Given the description of an element on the screen output the (x, y) to click on. 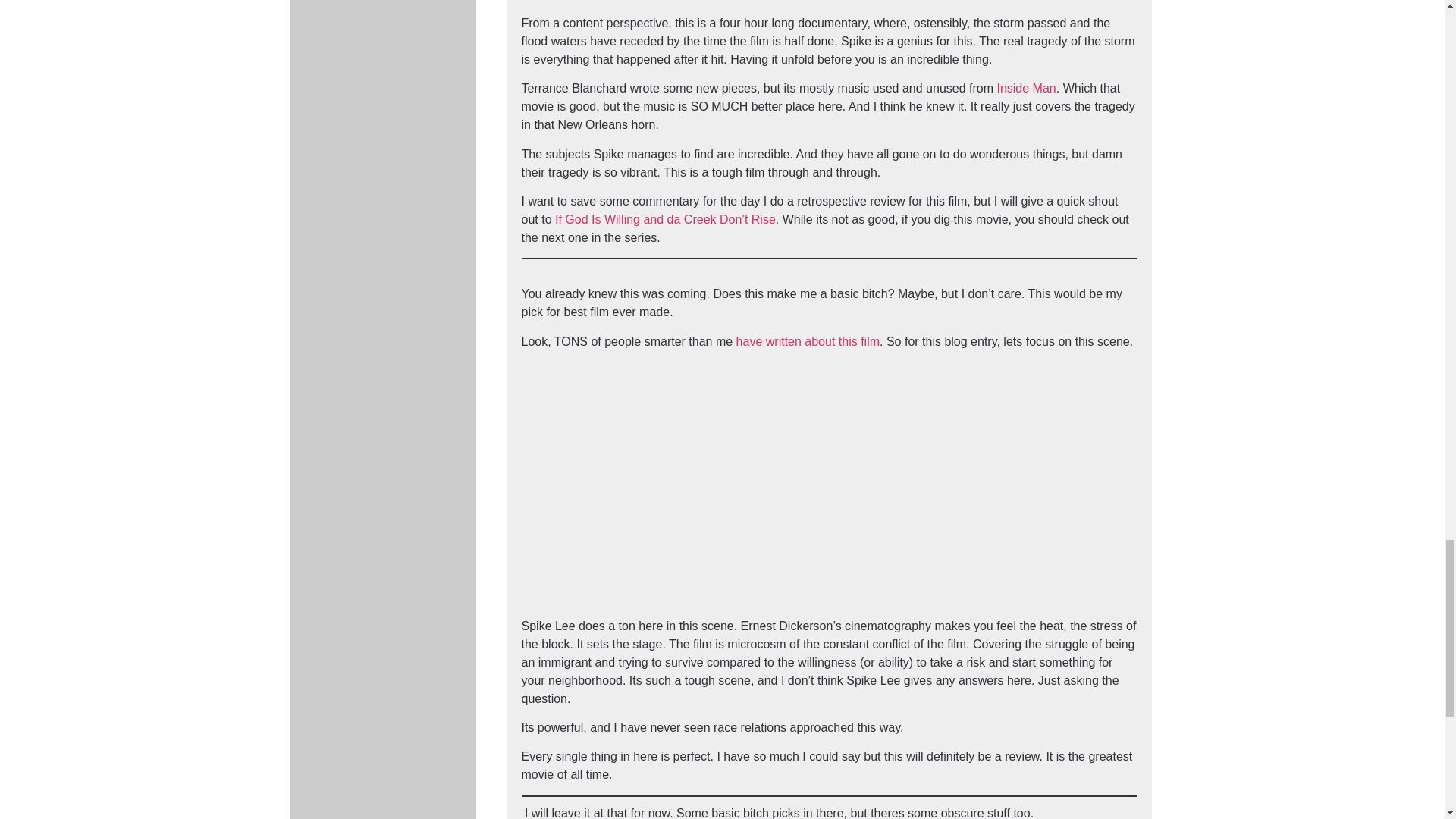
Inside Man (1025, 88)
have written about this film (807, 341)
